Given the description of an element on the screen output the (x, y) to click on. 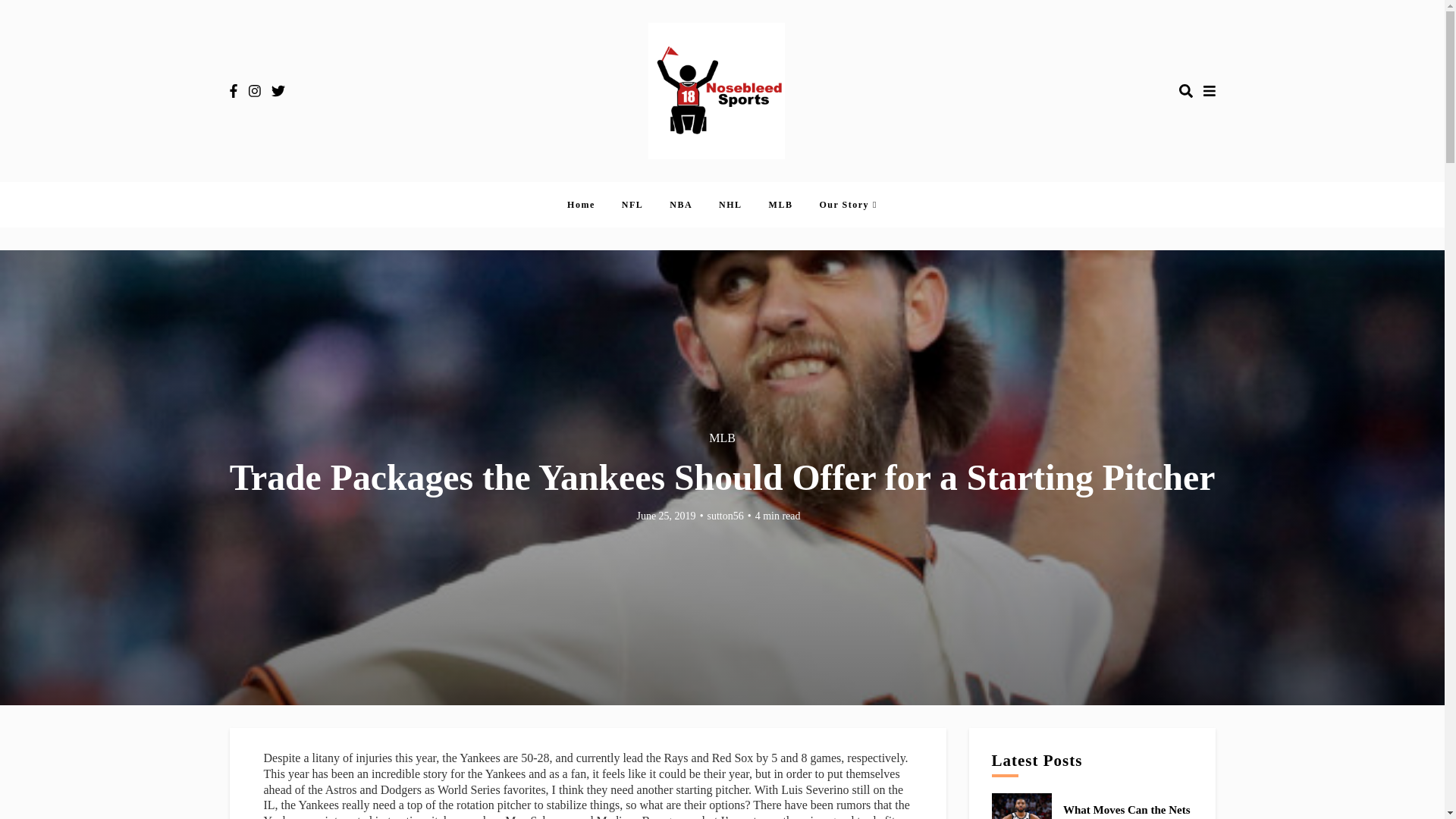
MLB (722, 437)
Our Story (843, 204)
